Given the description of an element on the screen output the (x, y) to click on. 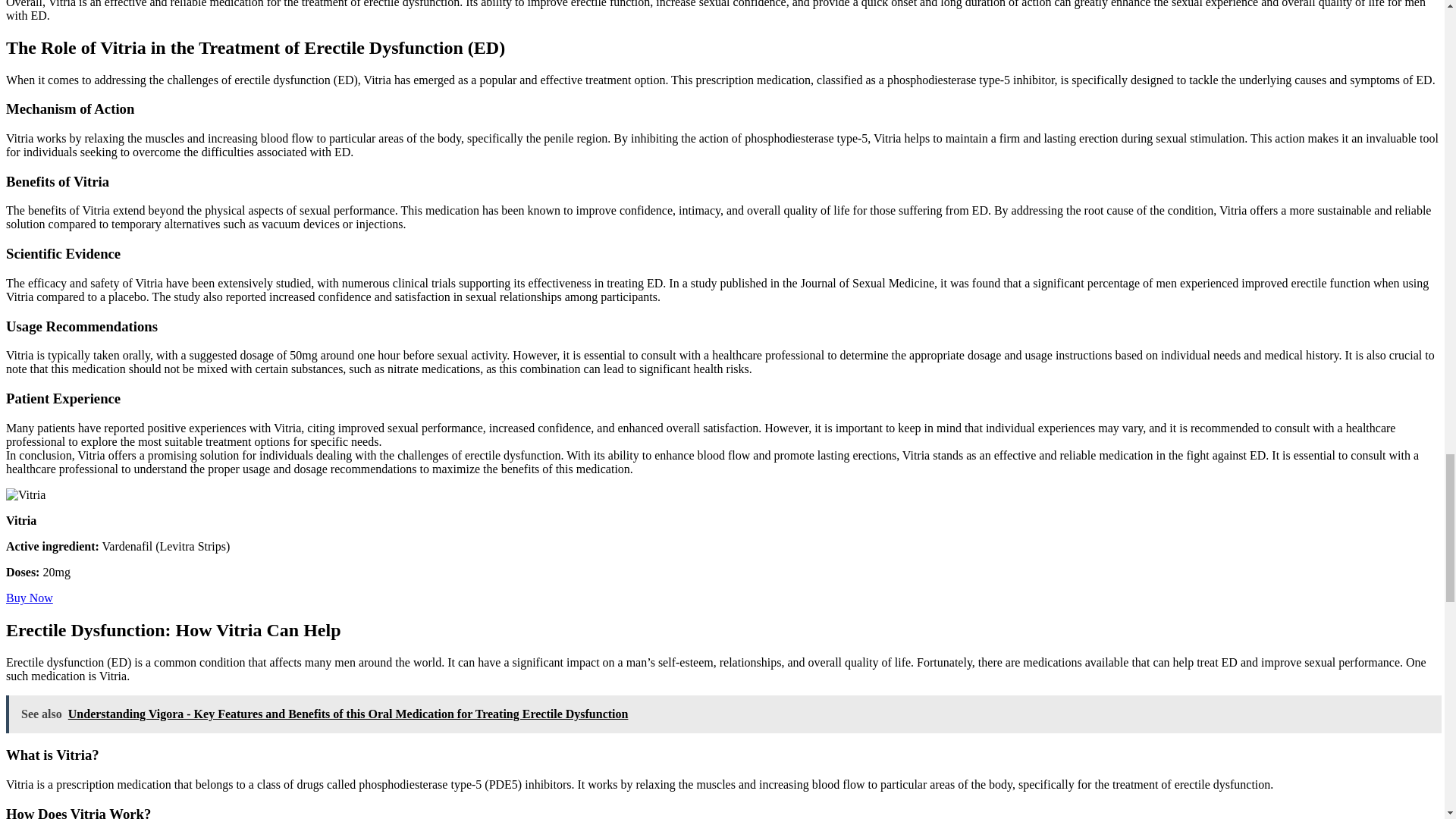
Buy Now (28, 597)
Buy Now (28, 597)
